Given the description of an element on the screen output the (x, y) to click on. 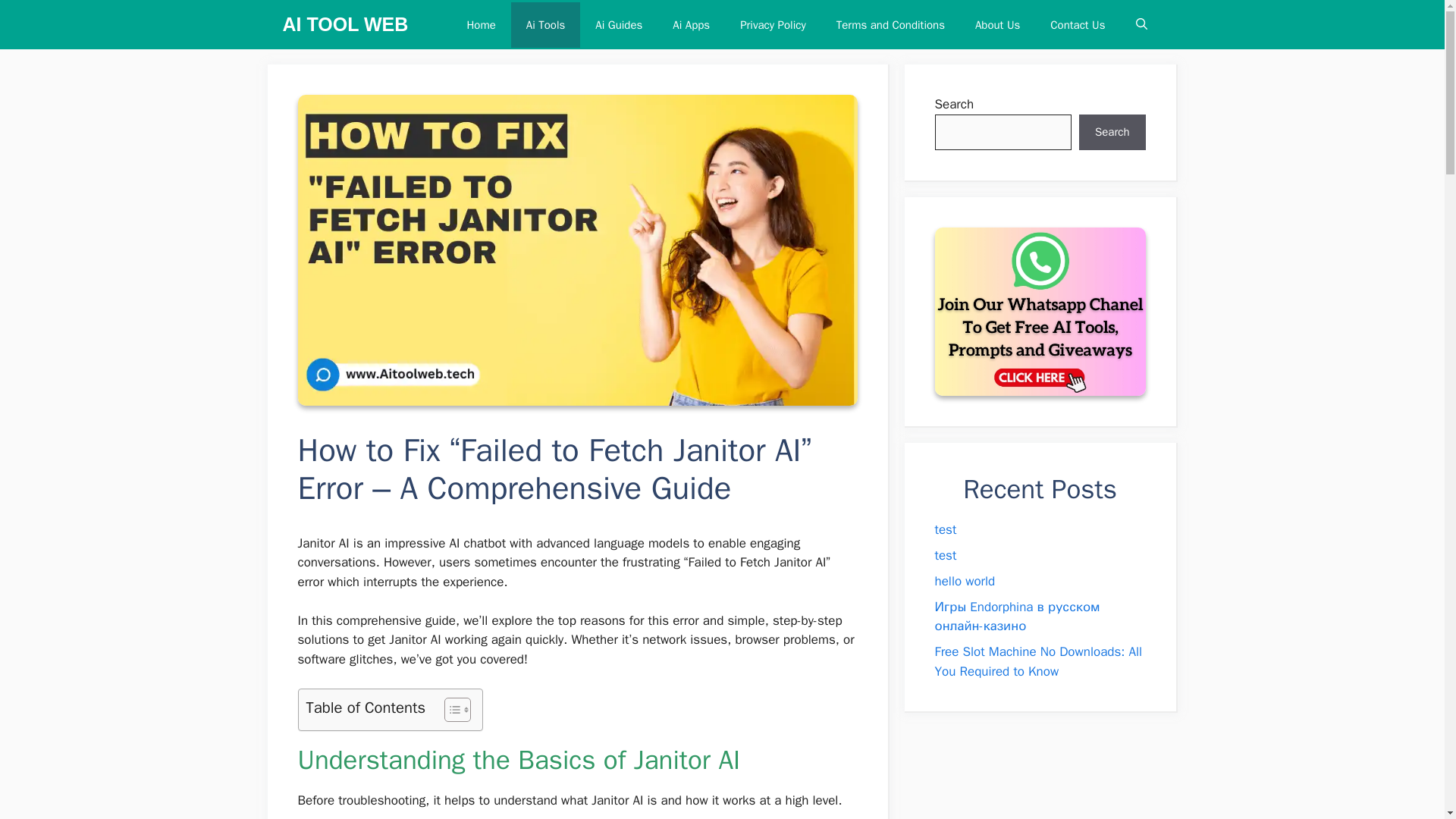
Search (1111, 131)
About Us (997, 23)
AI TOOL WEB (344, 24)
Free Slot Machine No Downloads: All You Required to Know (1037, 661)
Privacy Policy (773, 23)
Home (481, 23)
Ai Apps (691, 23)
hello world (964, 580)
Ai Tools (545, 23)
Contact Us (1077, 23)
